Given the description of an element on the screen output the (x, y) to click on. 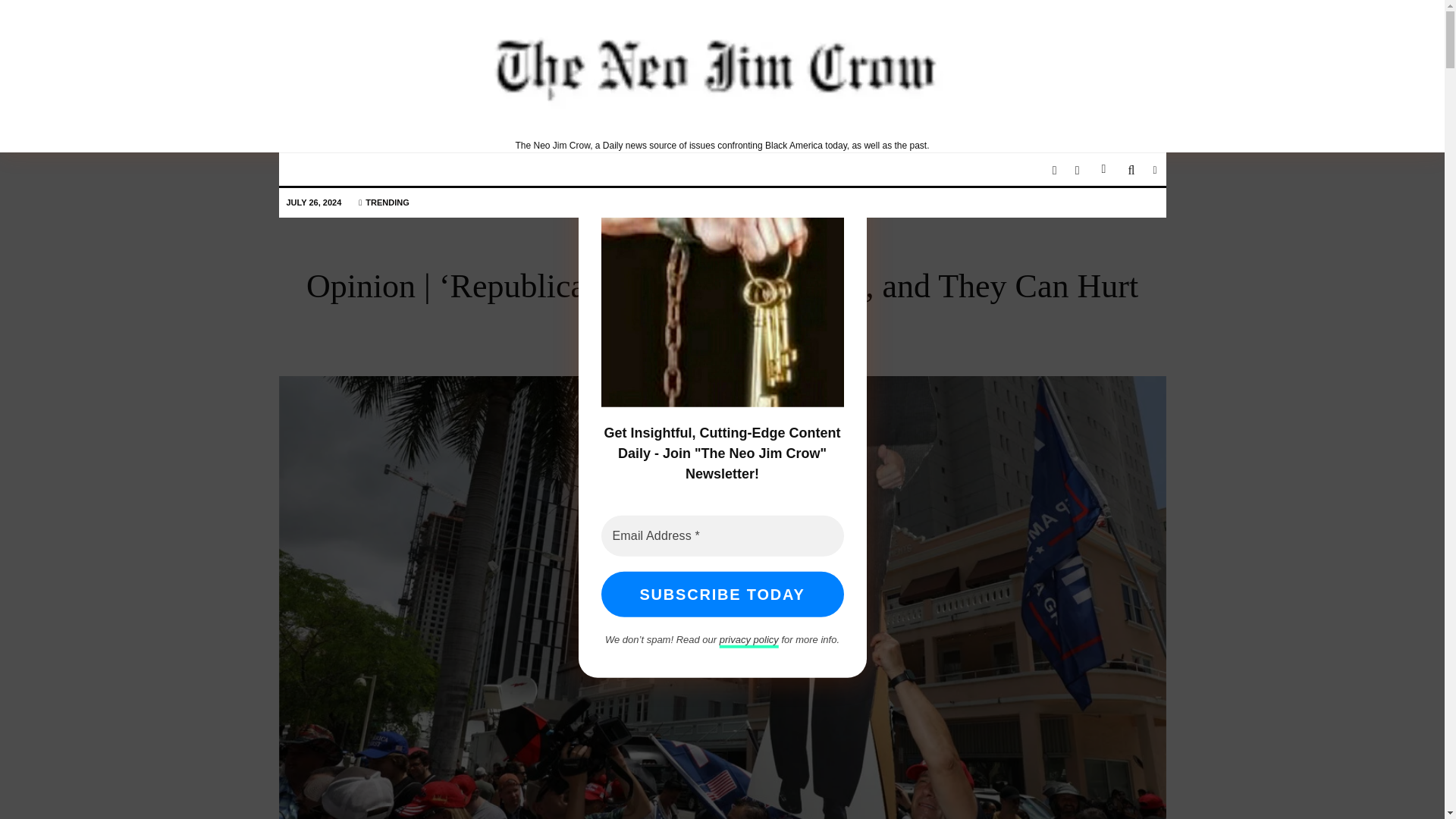
TRENDING (384, 202)
Keep Up-to-date (1006, 84)
Subscribe today (721, 594)
